Given the description of an element on the screen output the (x, y) to click on. 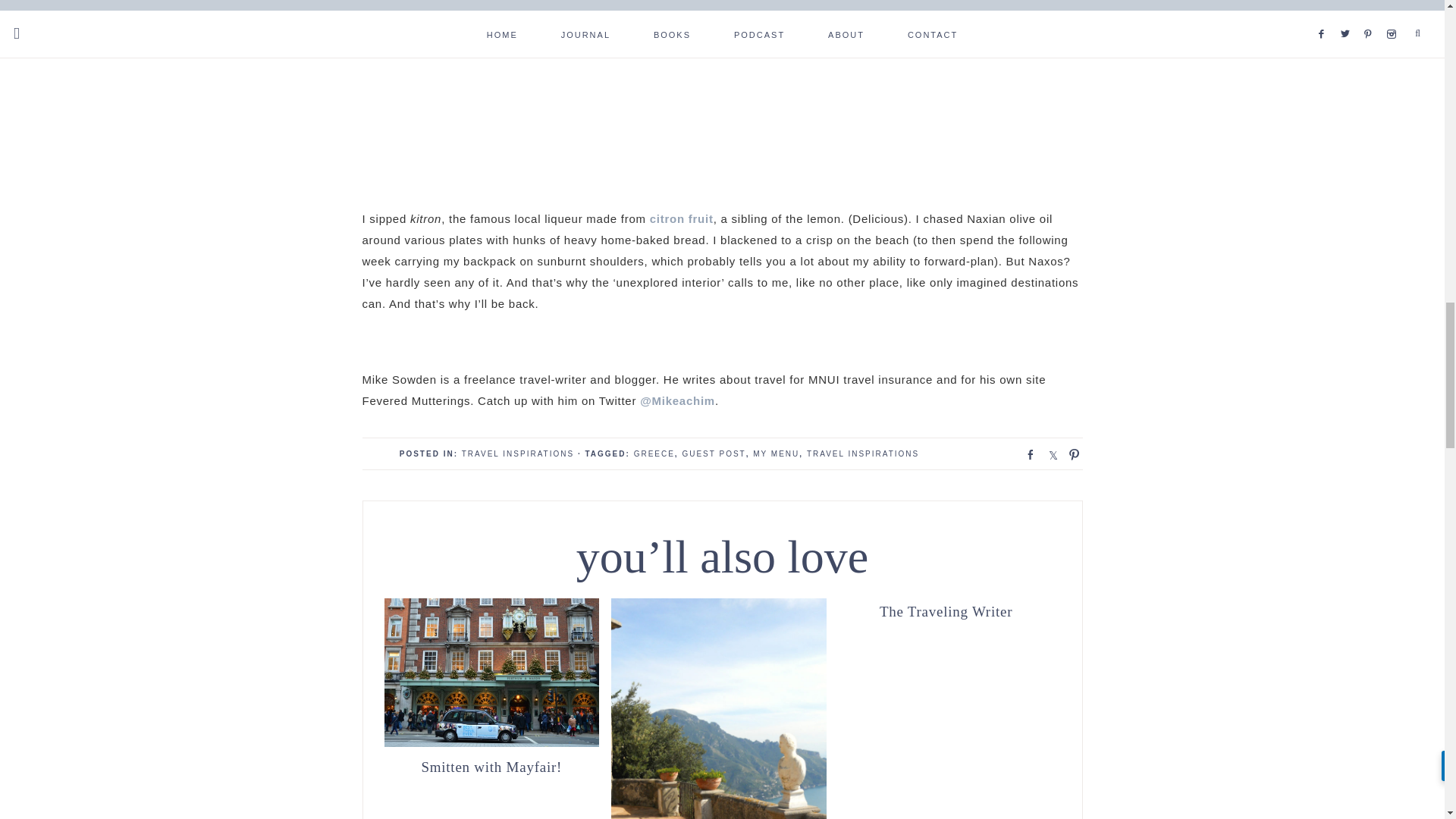
citron fruit (681, 218)
Permanent Link to The Traveling Writer (946, 610)
Permanent Link to Smitten with Mayfair! (491, 742)
Share (1024, 453)
Permanent Link to Smitten with Mayfair! (491, 765)
